Given the description of an element on the screen output the (x, y) to click on. 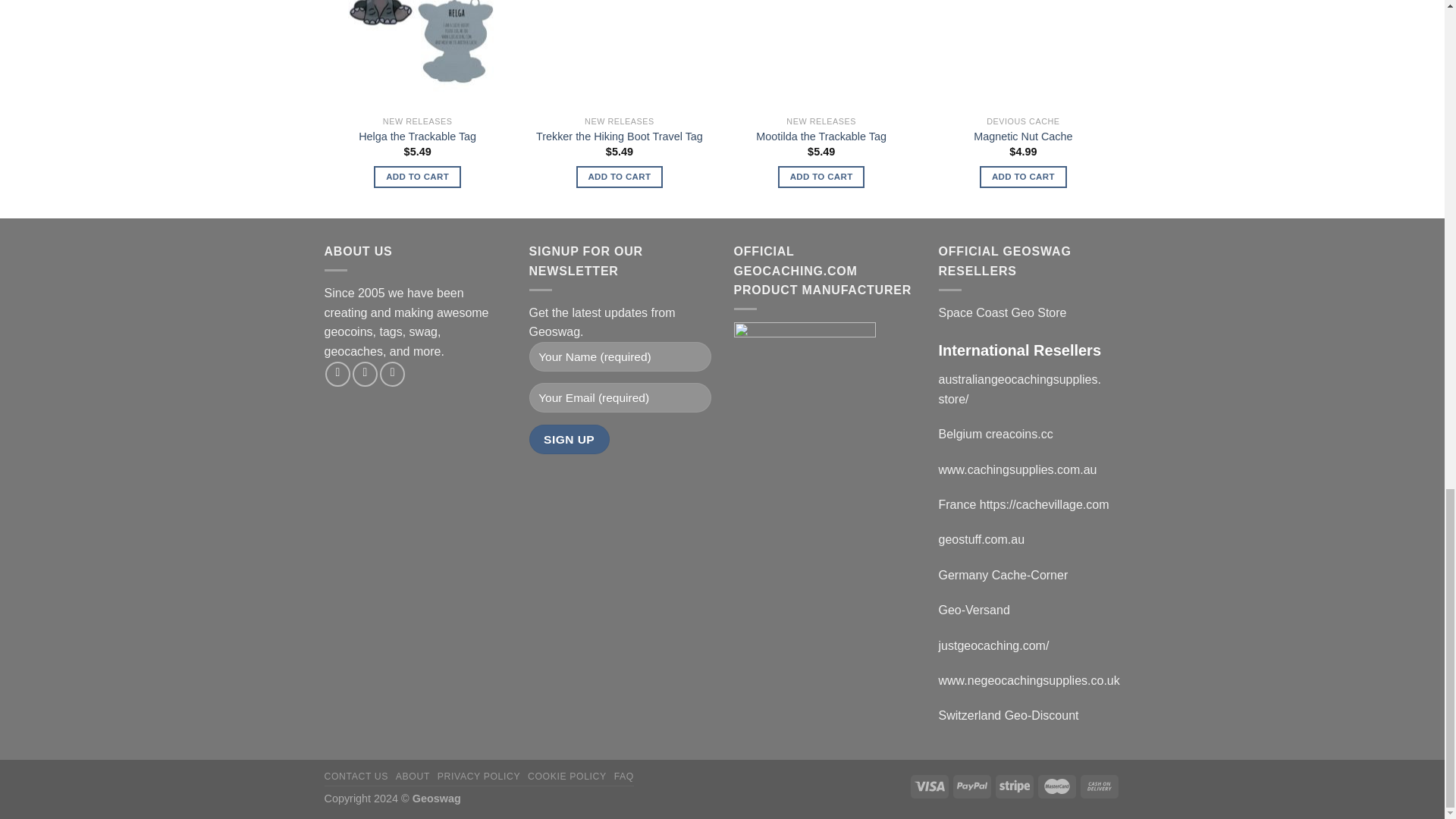
Sign Up (569, 439)
